Given the description of an element on the screen output the (x, y) to click on. 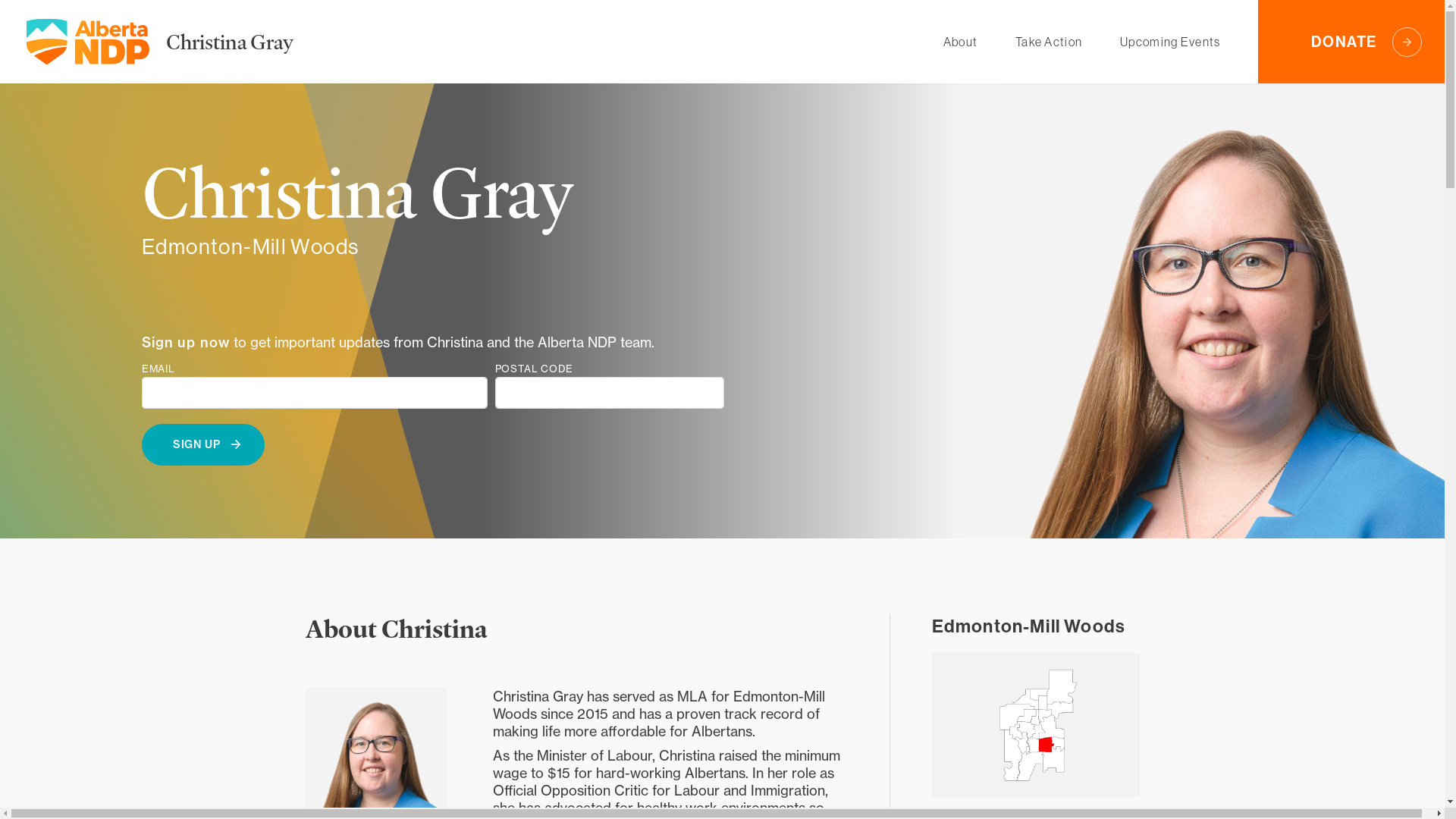
About Element type: text (960, 41)
Christina Gray Element type: text (229, 41)
Take Action Element type: text (1048, 41)
SIGN UP Element type: text (202, 444)
DONATE Element type: text (1351, 41)
Upcoming Events Element type: text (1170, 41)
